Given the description of an element on the screen output the (x, y) to click on. 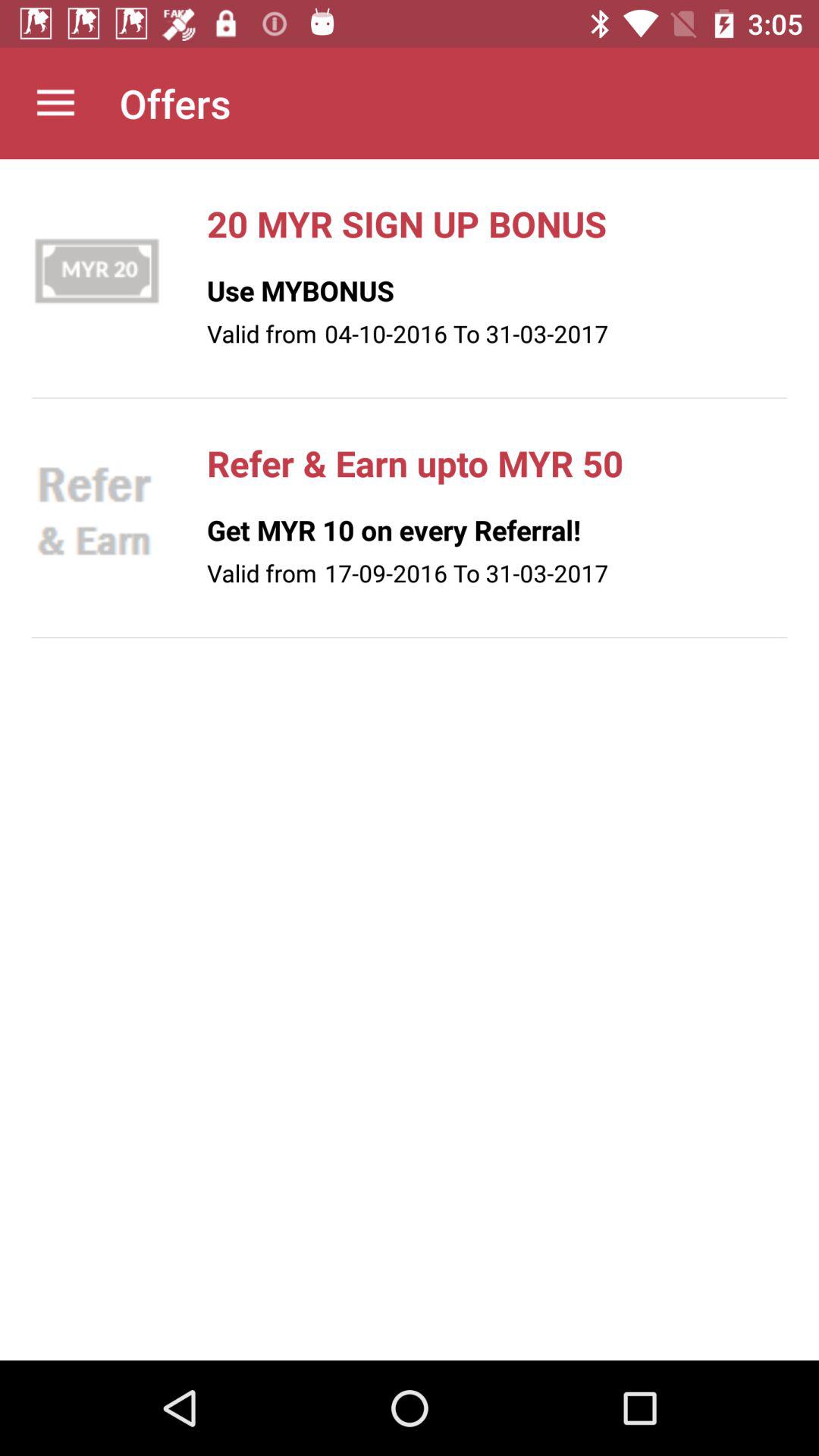
launch item to the left of offers app (55, 103)
